Given the description of an element on the screen output the (x, y) to click on. 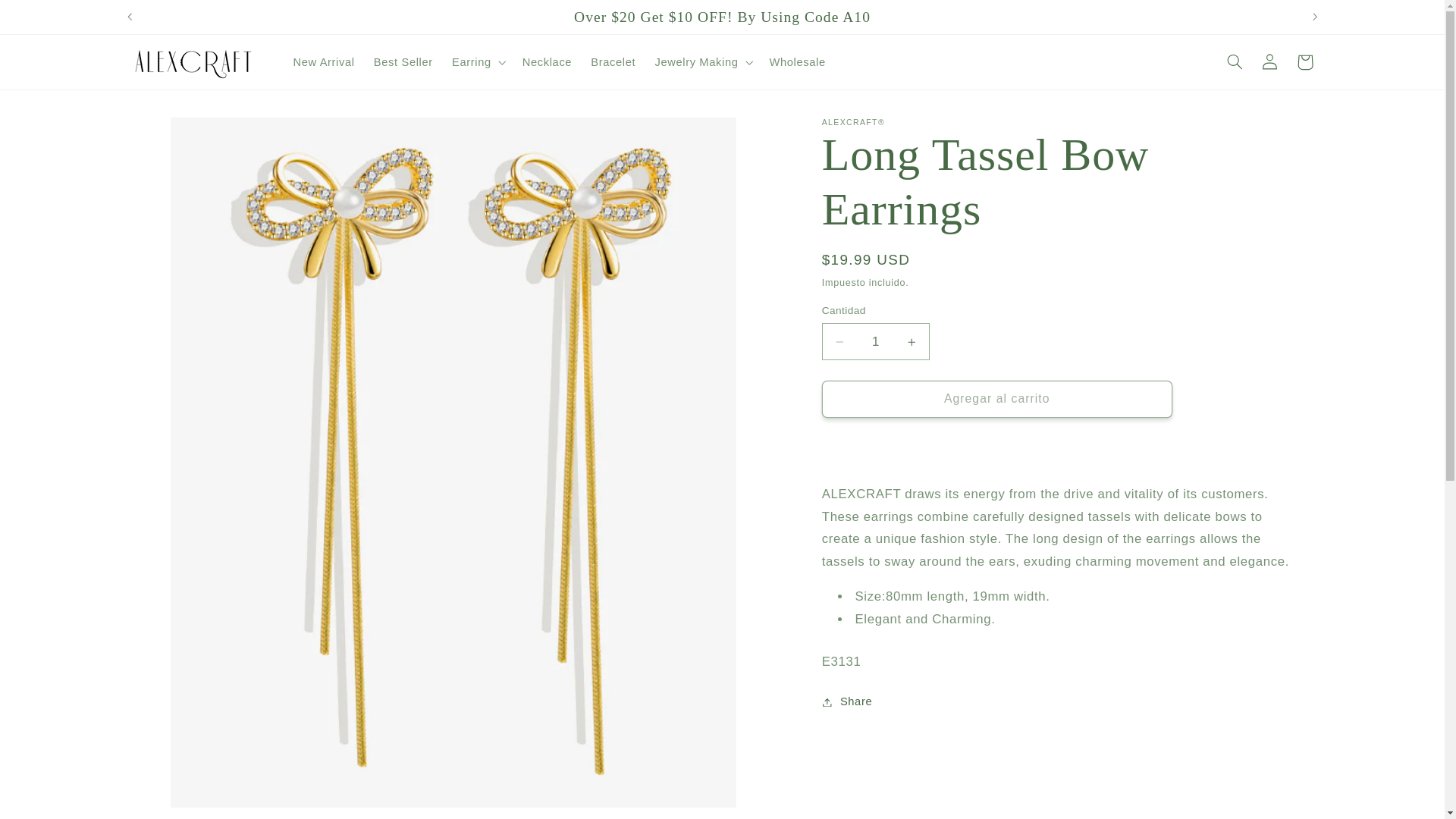
Bracelet (612, 61)
New Arrival (323, 61)
Best Seller (403, 61)
Necklace (546, 61)
Ir directamente al contenido (48, 18)
1 (876, 341)
